Given the description of an element on the screen output the (x, y) to click on. 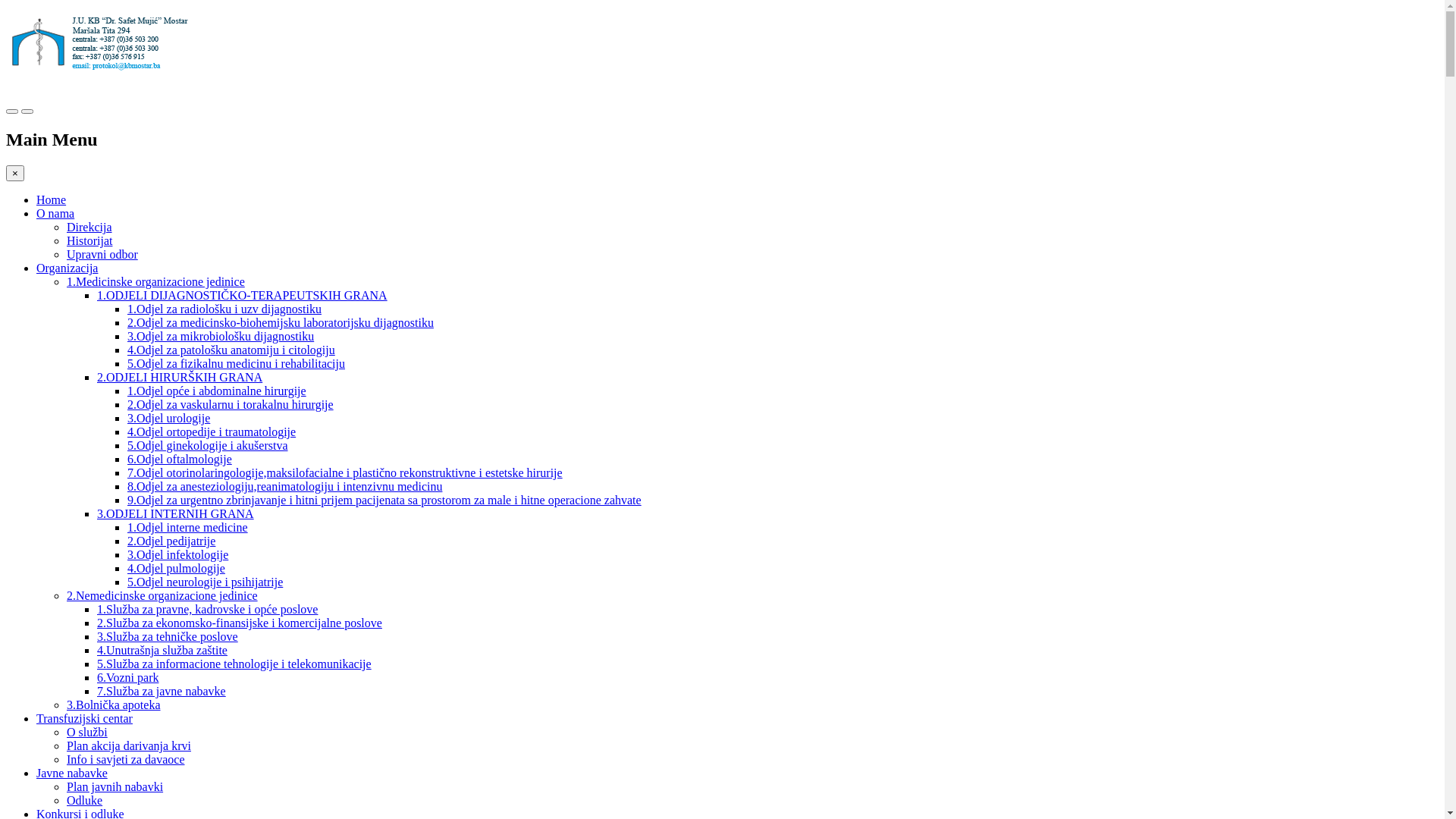
Upravni odbor Element type: text (102, 253)
2.Nemedicinske organizacione jedinice Element type: text (161, 595)
Historijat Element type: text (89, 240)
O nama Element type: text (55, 213)
1.Odjel interne medicine Element type: text (187, 526)
5.Odjel za fizikalnu medicinu i rehabilitaciju Element type: text (236, 363)
Home Element type: text (50, 199)
Direkcija Element type: text (89, 226)
1.Medicinske organizacione jedinice Element type: text (155, 281)
Organizacija Element type: text (66, 267)
Info i savjeti za davaoce Element type: text (125, 759)
Transfuzijski centar Element type: text (84, 718)
5.Odjel neurologije i psihijatrije Element type: text (204, 581)
Back Element type: text (17, 7)
3.Odjel infektologije Element type: text (177, 554)
3.Odjel urologije Element type: text (168, 417)
Javne nabavke Element type: text (71, 772)
2.Odjel za vaskularnu i torakalnu hirurgije Element type: text (230, 404)
4.Odjel ortopedije i traumatologije Element type: text (211, 431)
3.ODJELI INTERNIH GRANA Element type: text (175, 513)
2.Odjel pedijatrije Element type: text (171, 540)
6.Odjel oftalmologije Element type: text (179, 458)
Plan akcija darivanja krvi Element type: text (128, 745)
Plan javnih nabavki Element type: text (114, 786)
6.Vozni park Element type: text (127, 677)
Odluke Element type: text (84, 799)
4.Odjel pulmologije Element type: text (176, 567)
